Given the description of an element on the screen output the (x, y) to click on. 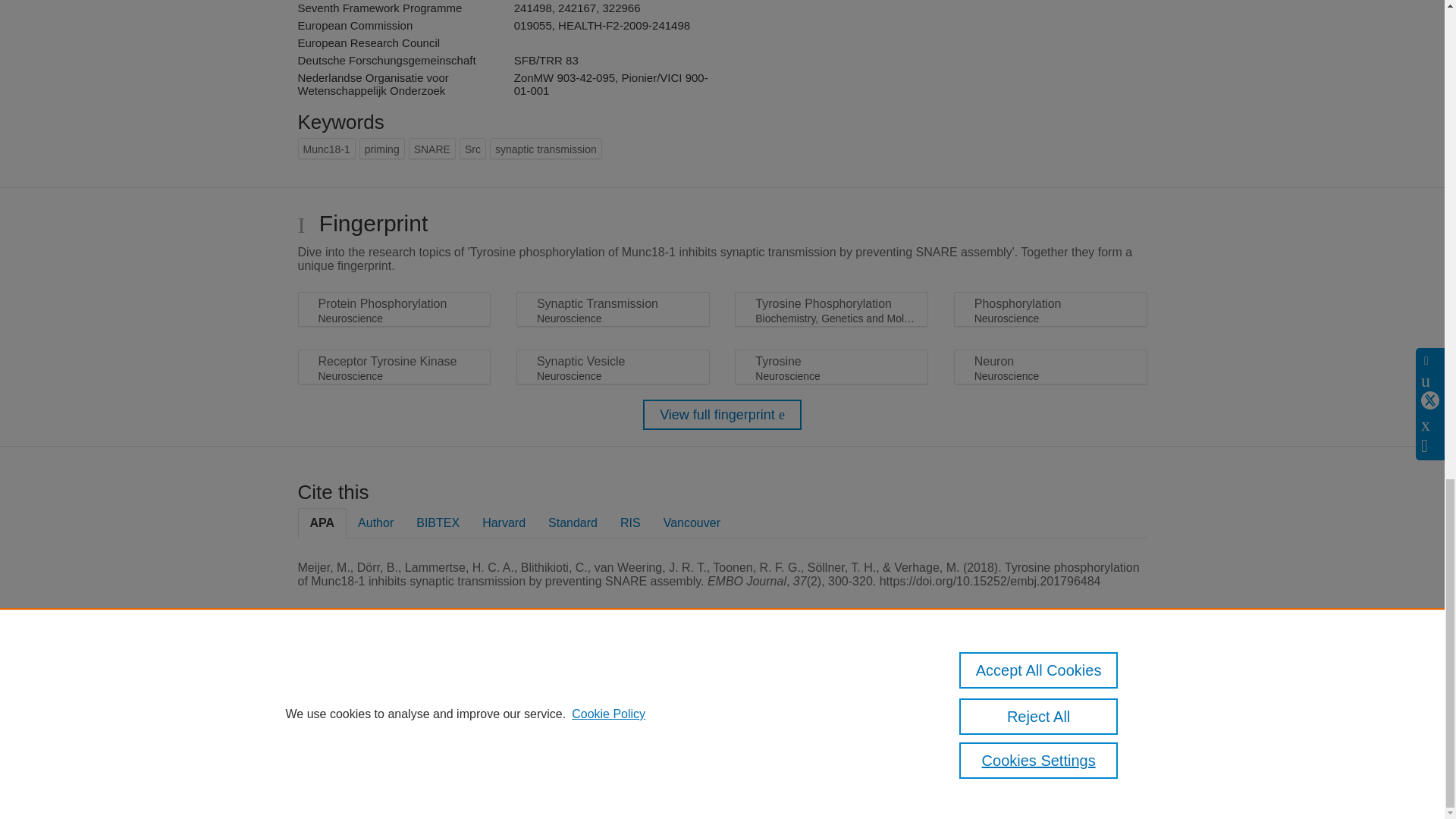
View full fingerprint (722, 414)
